Given the description of an element on the screen output the (x, y) to click on. 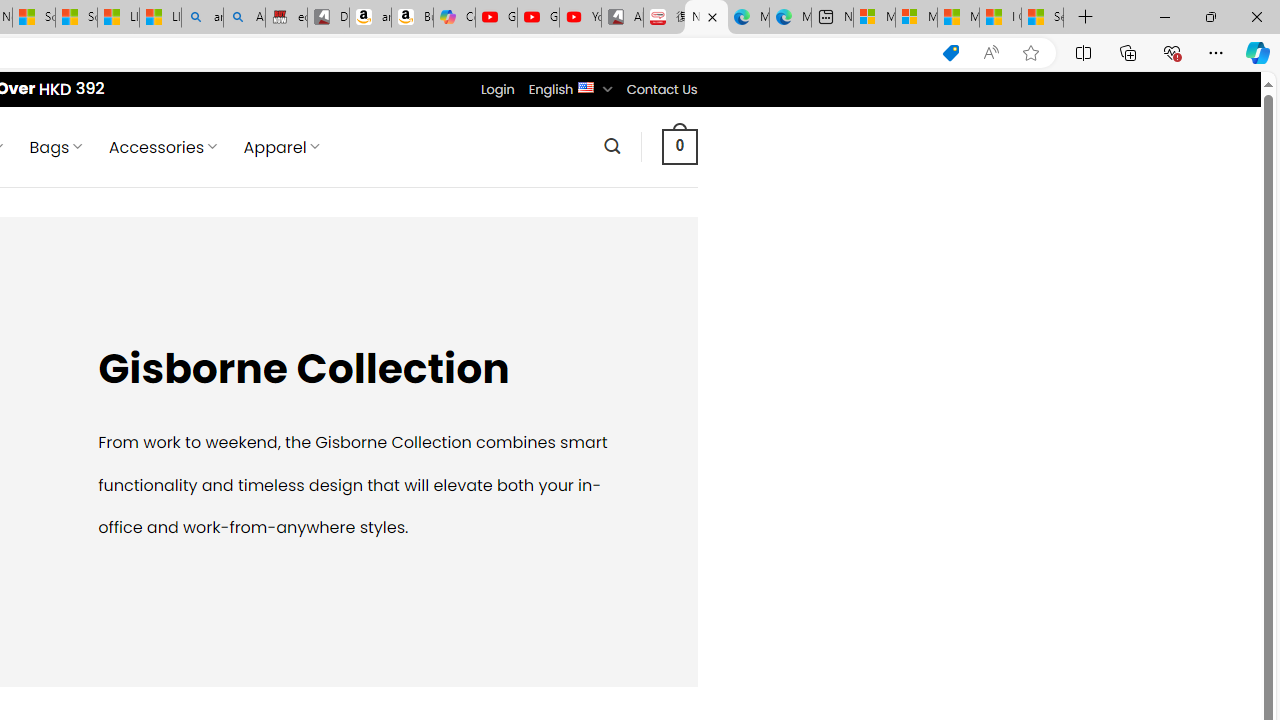
English (586, 86)
